Given the description of an element on the screen output the (x, y) to click on. 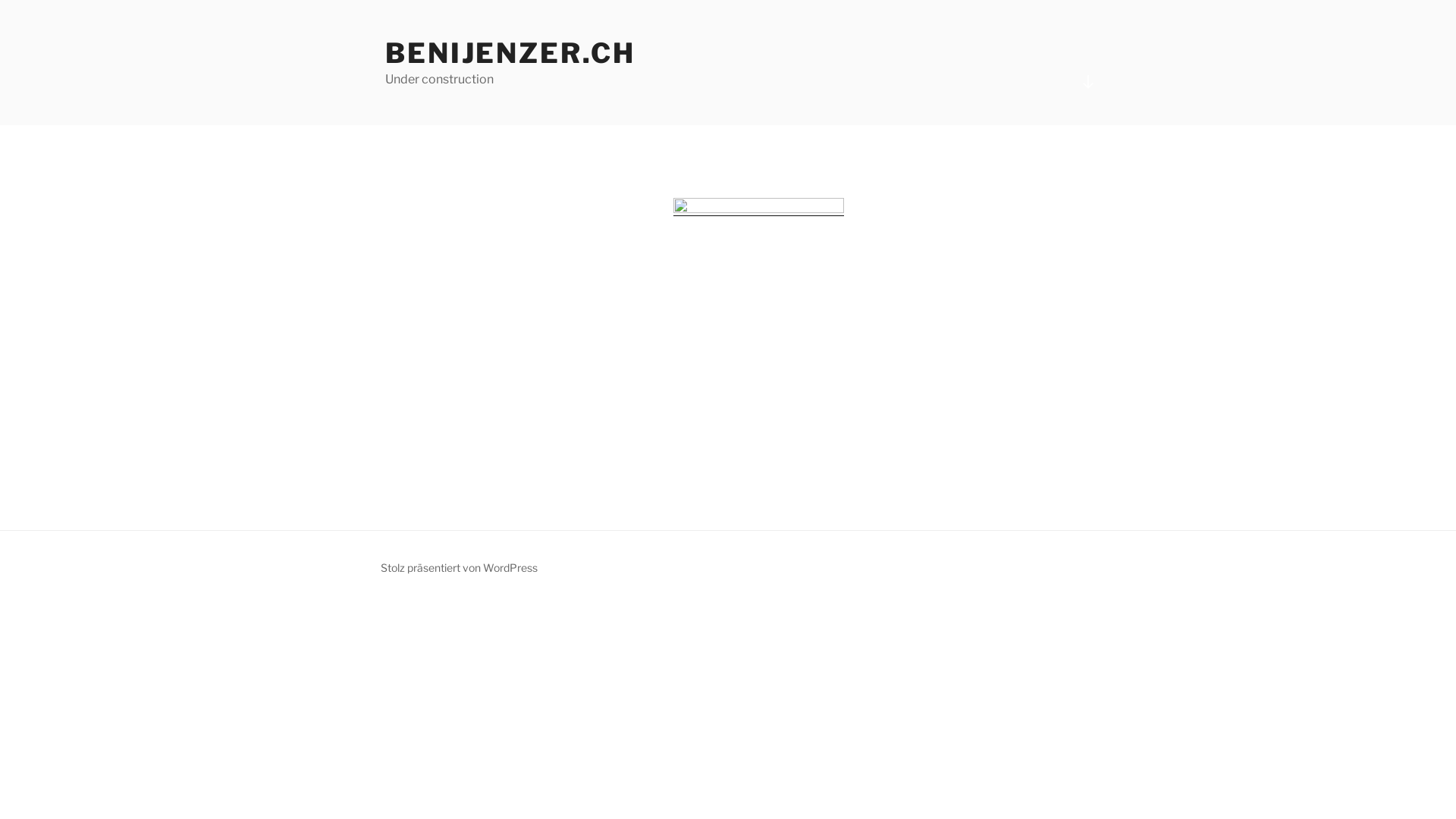
Zum Inhalt springen Element type: text (0, 0)
BENIJENZER.CH Element type: text (509, 52)
Zum Inhalt nach unten scrollen Element type: text (1088, 81)
